Given the description of an element on the screen output the (x, y) to click on. 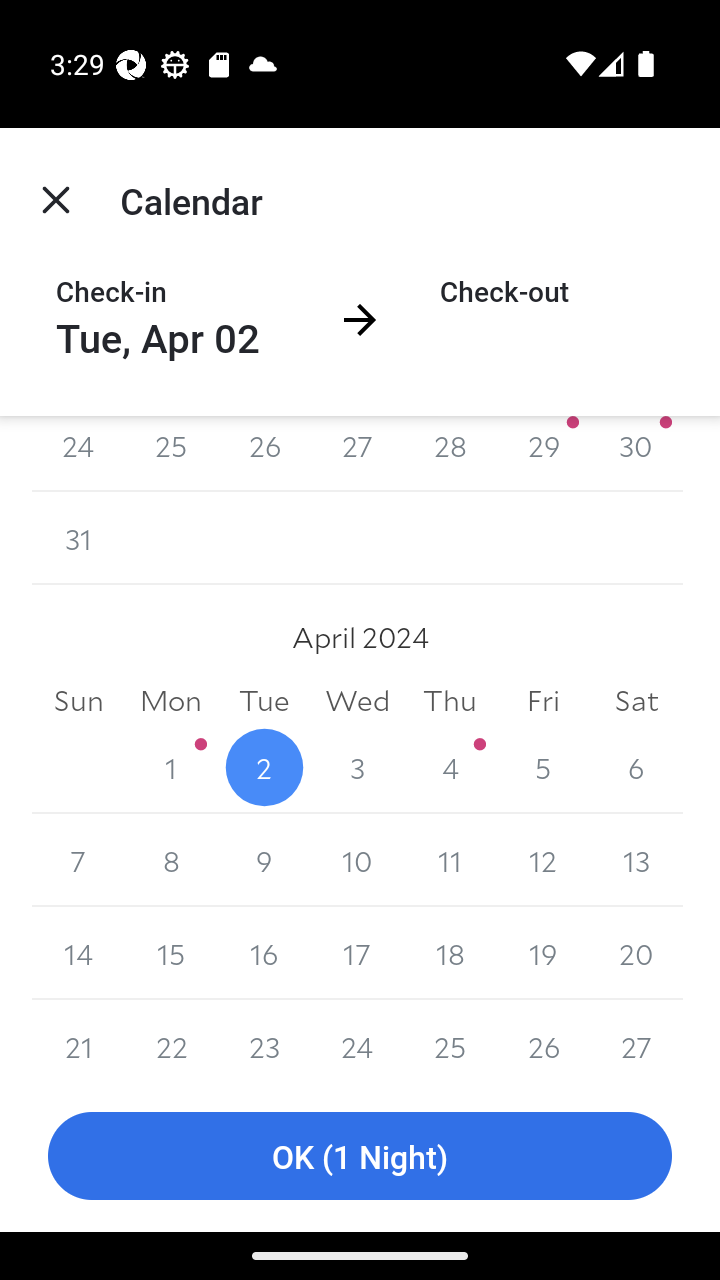
24 24 March 2024 (78, 453)
25 25 March 2024 (171, 453)
26 26 March 2024 (264, 453)
27 27 March 2024 (357, 453)
28 28 March 2024 (449, 453)
29 29 March 2024 (542, 453)
30 30 March 2024 (636, 453)
31 31 March 2024 (78, 537)
Sun (78, 699)
Mon (171, 699)
Tue (264, 699)
Wed (357, 699)
Thu (449, 699)
Fri (542, 699)
Sat (636, 699)
1 1 April 2024 (171, 767)
2 2 April 2024 (264, 767)
3 3 April 2024 (357, 767)
4 4 April 2024 (449, 767)
5 5 April 2024 (542, 767)
6 6 April 2024 (636, 767)
7 7 April 2024 (78, 860)
8 8 April 2024 (171, 860)
9 9 April 2024 (264, 860)
10 10 April 2024 (357, 860)
11 11 April 2024 (449, 860)
12 12 April 2024 (542, 860)
13 13 April 2024 (636, 860)
14 14 April 2024 (78, 953)
15 15 April 2024 (171, 953)
16 16 April 2024 (264, 953)
17 17 April 2024 (357, 953)
18 18 April 2024 (449, 953)
19 19 April 2024 (542, 953)
20 20 April 2024 (636, 953)
21 21 April 2024 (78, 1039)
22 22 April 2024 (171, 1039)
23 23 April 2024 (264, 1039)
24 24 April 2024 (357, 1039)
25 25 April 2024 (449, 1039)
26 26 April 2024 (542, 1039)
27 27 April 2024 (636, 1039)
OK (1 Night) (359, 1156)
